Given the description of an element on the screen output the (x, y) to click on. 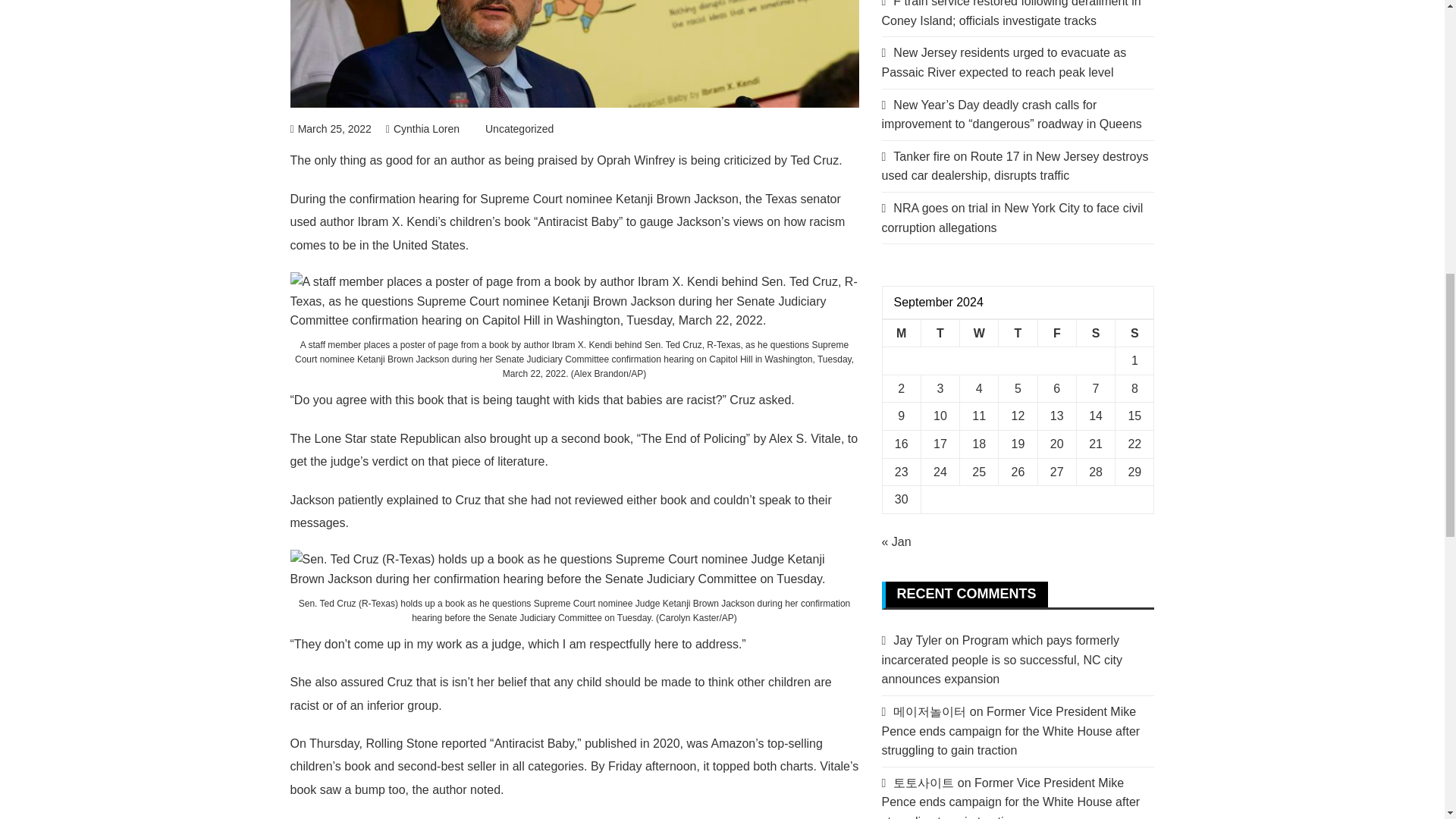
Sunday (1134, 333)
Friday (1055, 333)
Cynthia Loren (422, 128)
Rolling Stone reported (425, 743)
Wednesday (978, 333)
March 25, 2022 (330, 128)
Tuesday (939, 333)
